Given the description of an element on the screen output the (x, y) to click on. 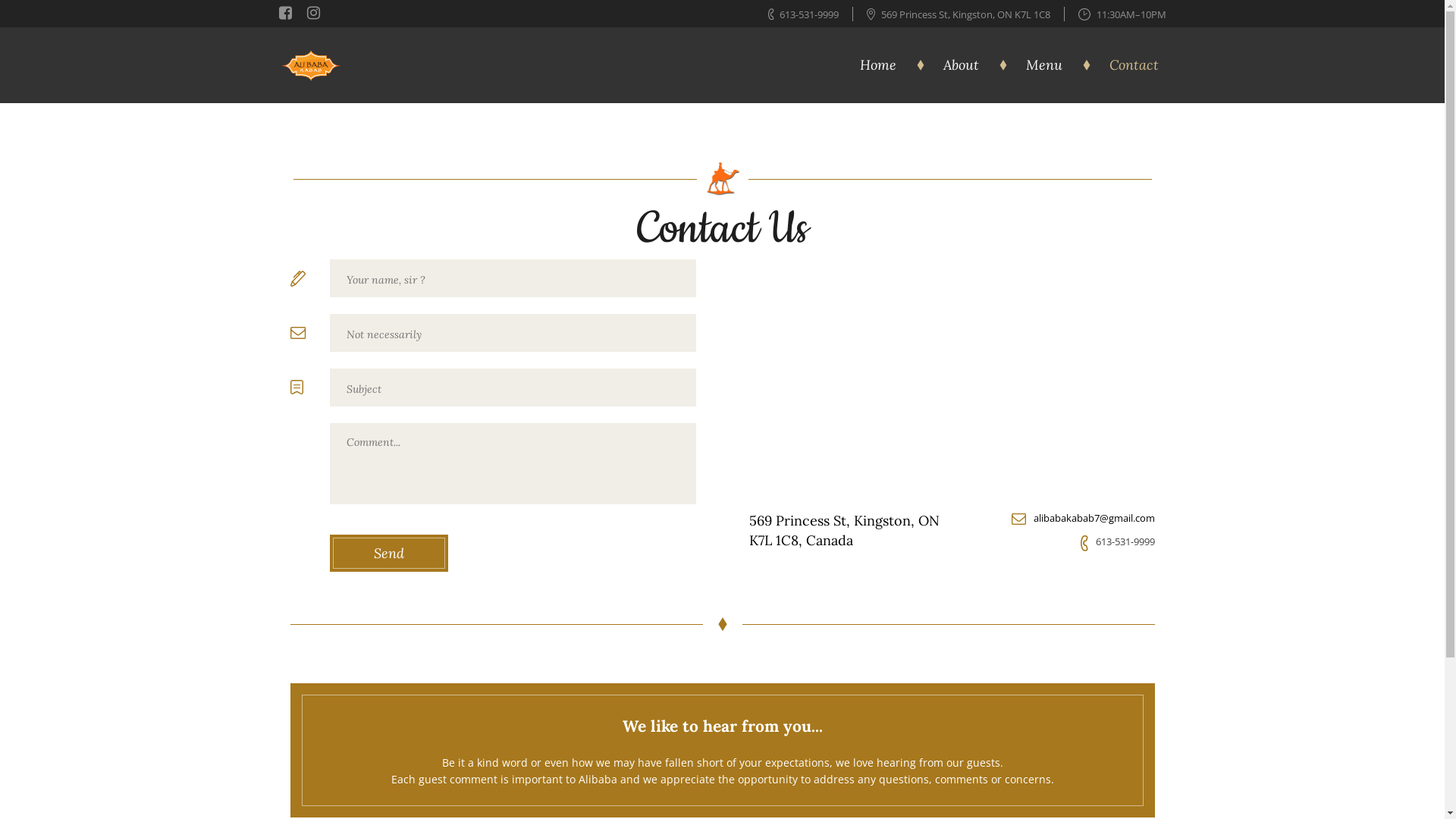
alibabakabab7@gmail.com Element type: text (1093, 517)
Menu Element type: text (1059, 64)
Home Element type: text (892, 64)
About Element type: text (975, 64)
Contact Element type: text (1134, 64)
Send Element type: text (388, 552)
